Given the description of an element on the screen output the (x, y) to click on. 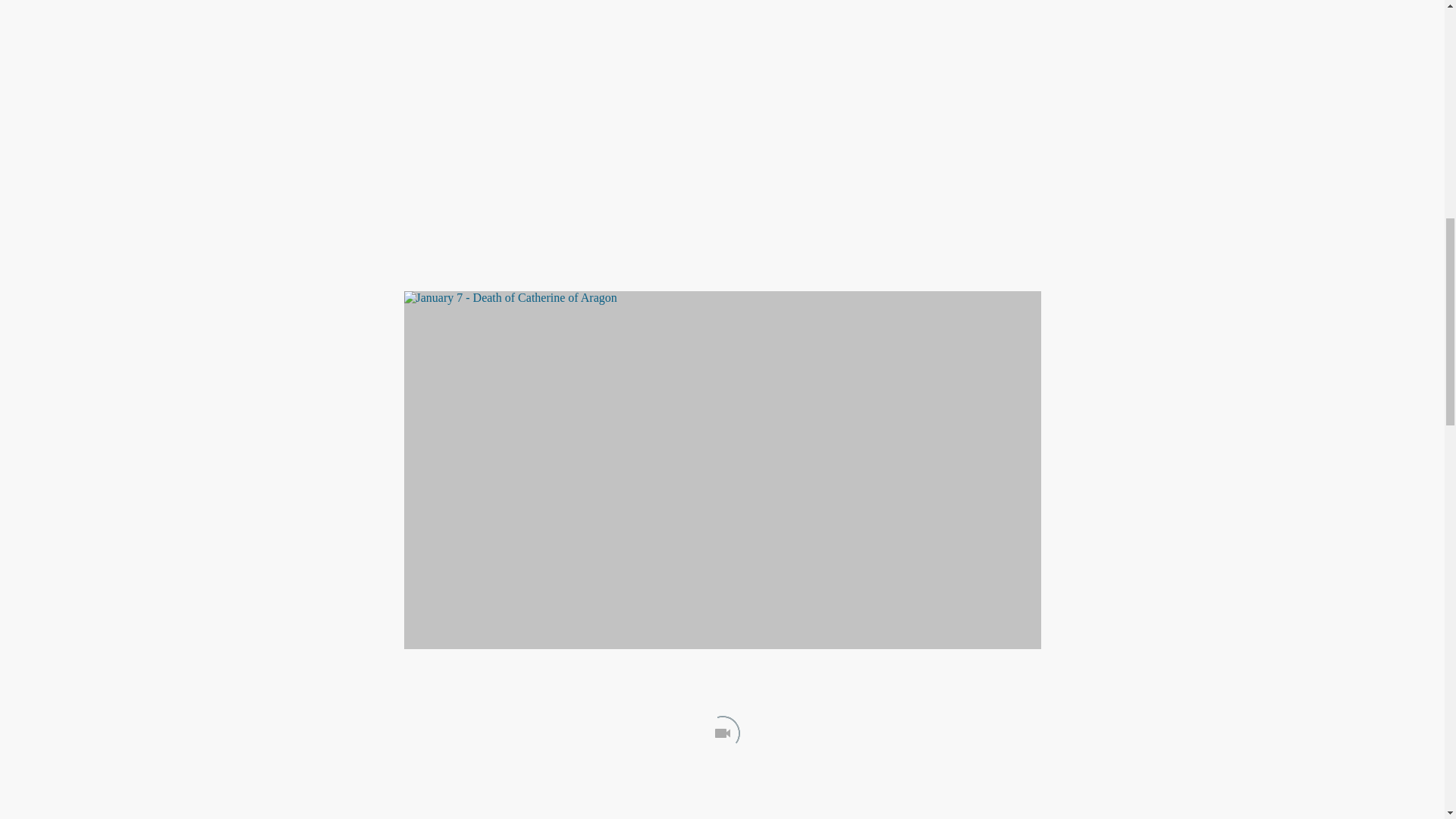
January 7 - "You shall find Calais lying in my heart" (722, 99)
